Given the description of an element on the screen output the (x, y) to click on. 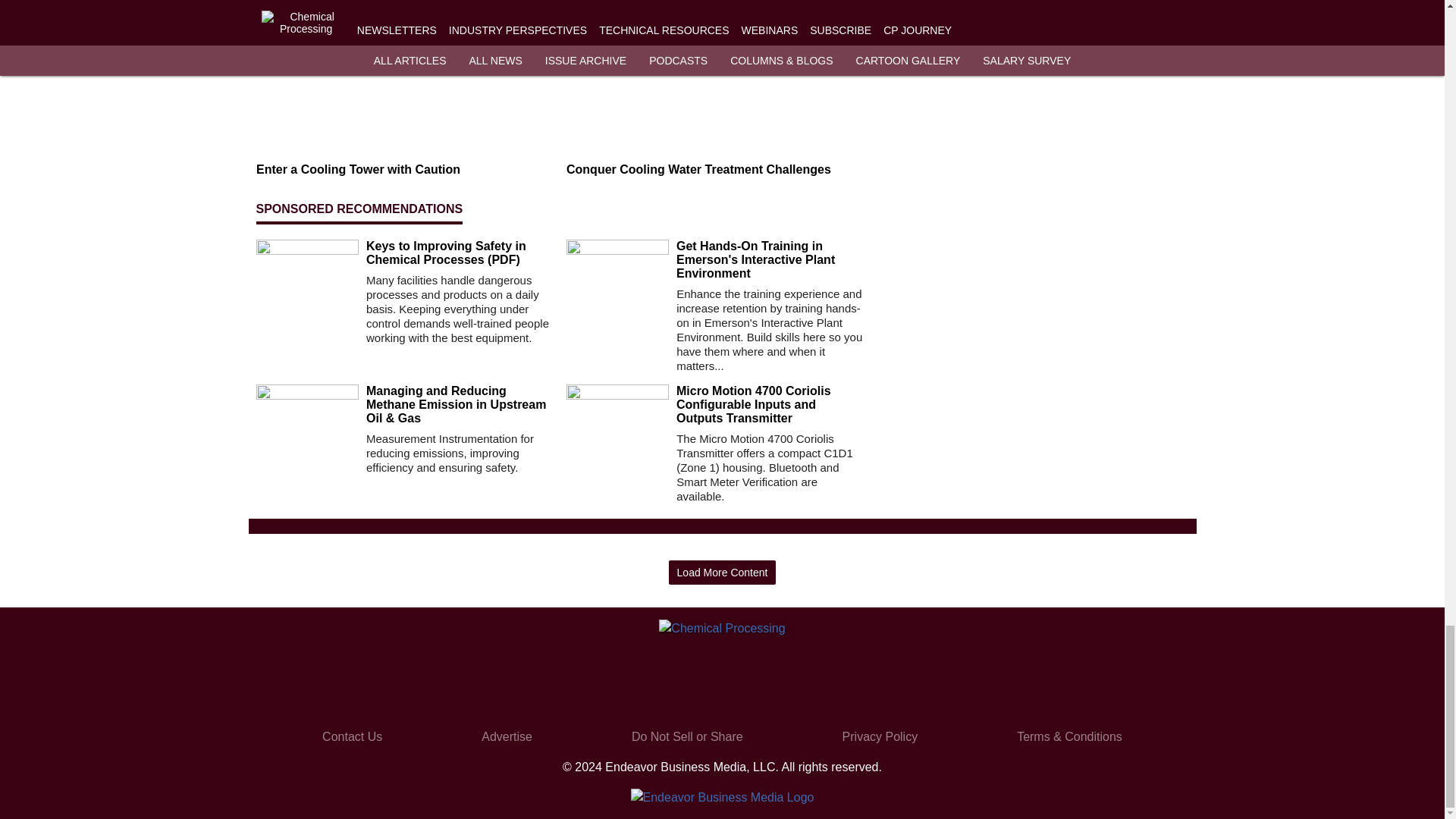
Conquer Cooling Water Treatment Challenges (715, 169)
Enter a Cooling Tower with Caution (405, 169)
